Given the description of an element on the screen output the (x, y) to click on. 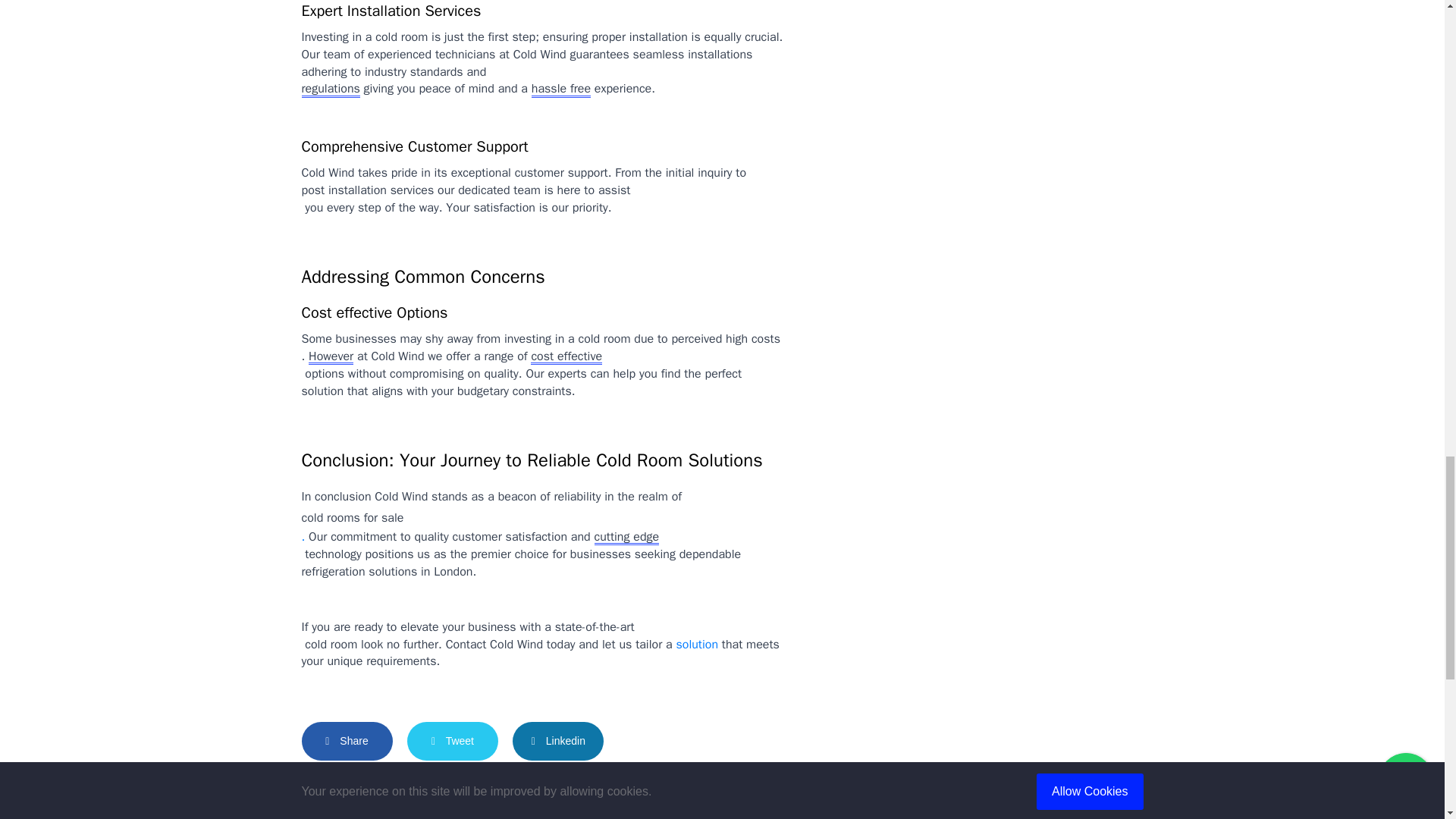
Tweet (452, 740)
Share (347, 740)
solution (696, 644)
Linkedin (558, 740)
